Given the description of an element on the screen output the (x, y) to click on. 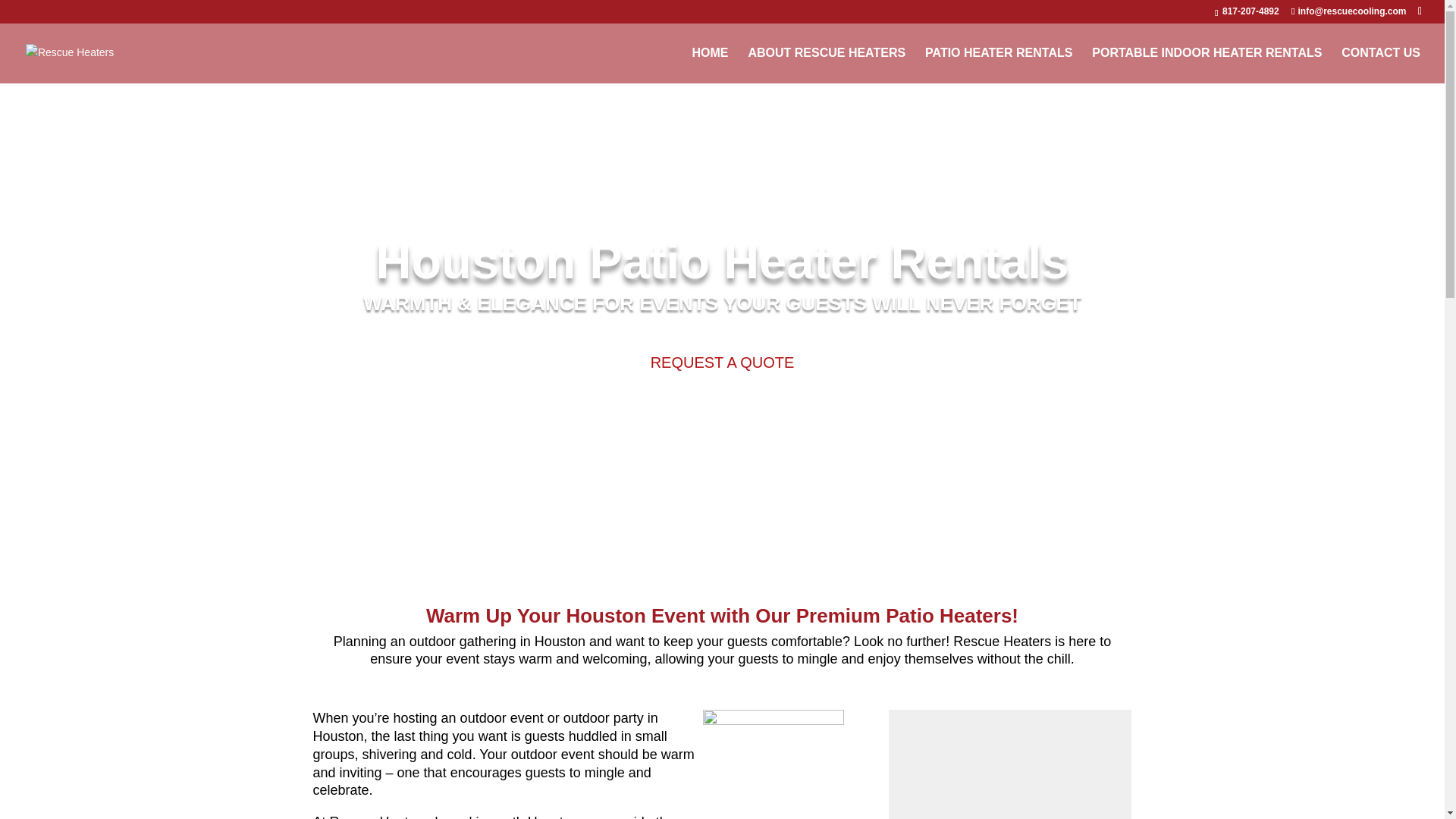
817-207-4892 (1249, 10)
PATIO HEATER RENTALS (997, 65)
CONTACT US (1380, 65)
PORTABLE INDOOR HEATER RENTALS (1207, 65)
REQUEST A QUOTE (721, 362)
HOME (711, 65)
ABOUT RESCUE HEATERS (826, 65)
